Given the description of an element on the screen output the (x, y) to click on. 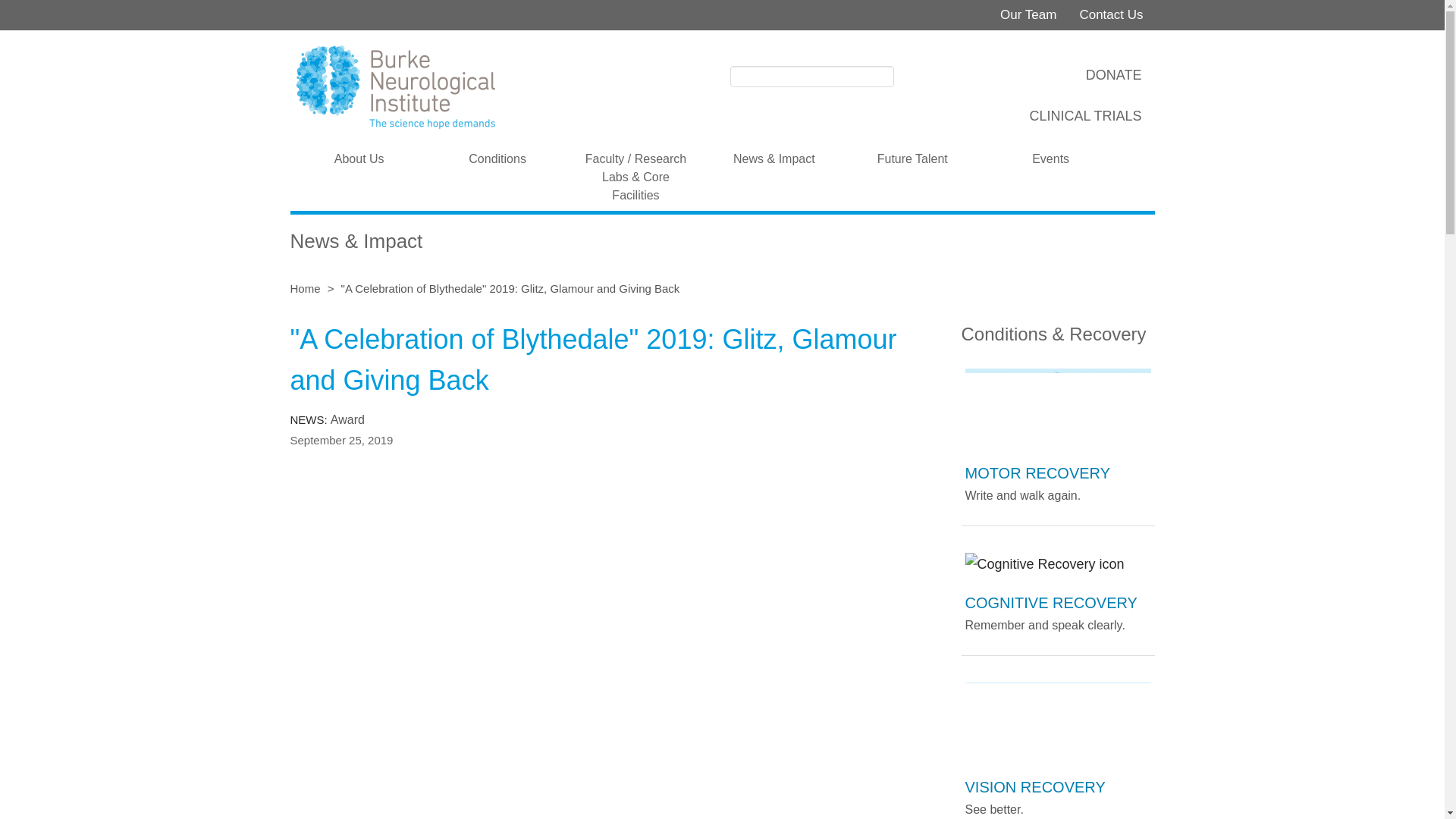
Contact Us (1110, 15)
Our Team (1027, 15)
CLINICAL TRIALS (1083, 112)
Events (1050, 158)
Future Talent (912, 158)
Enter the terms you wish to search for. (811, 76)
Search (906, 74)
About Us (359, 158)
Conditions (496, 158)
